Given the description of an element on the screen output the (x, y) to click on. 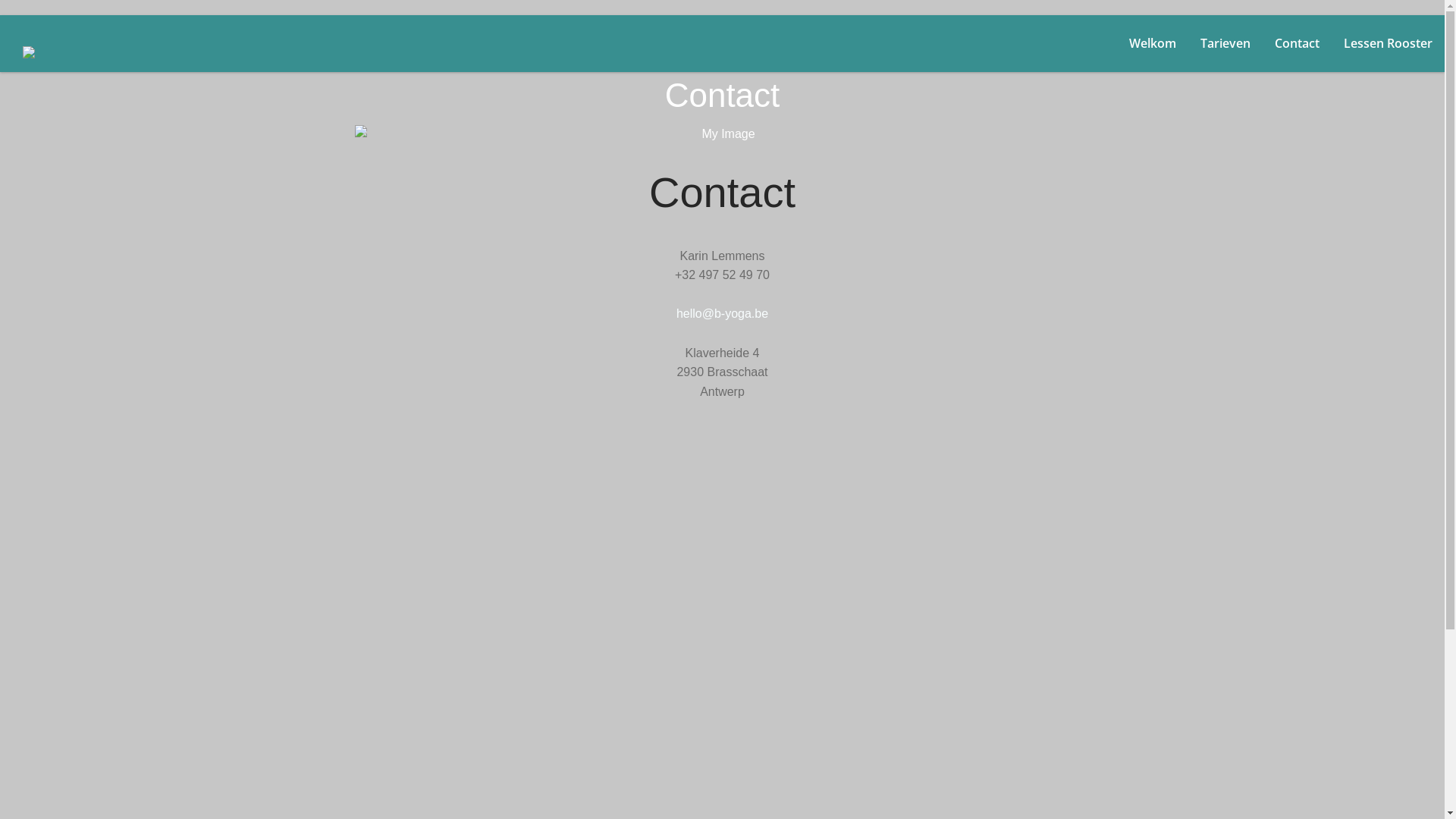
hello@b-yoga.be Element type: text (722, 313)
Contact Element type: text (1296, 43)
Welkom Element type: text (1152, 43)
Tarieven Element type: text (1225, 43)
Lessen Rooster Element type: text (1387, 43)
